Given the description of an element on the screen output the (x, y) to click on. 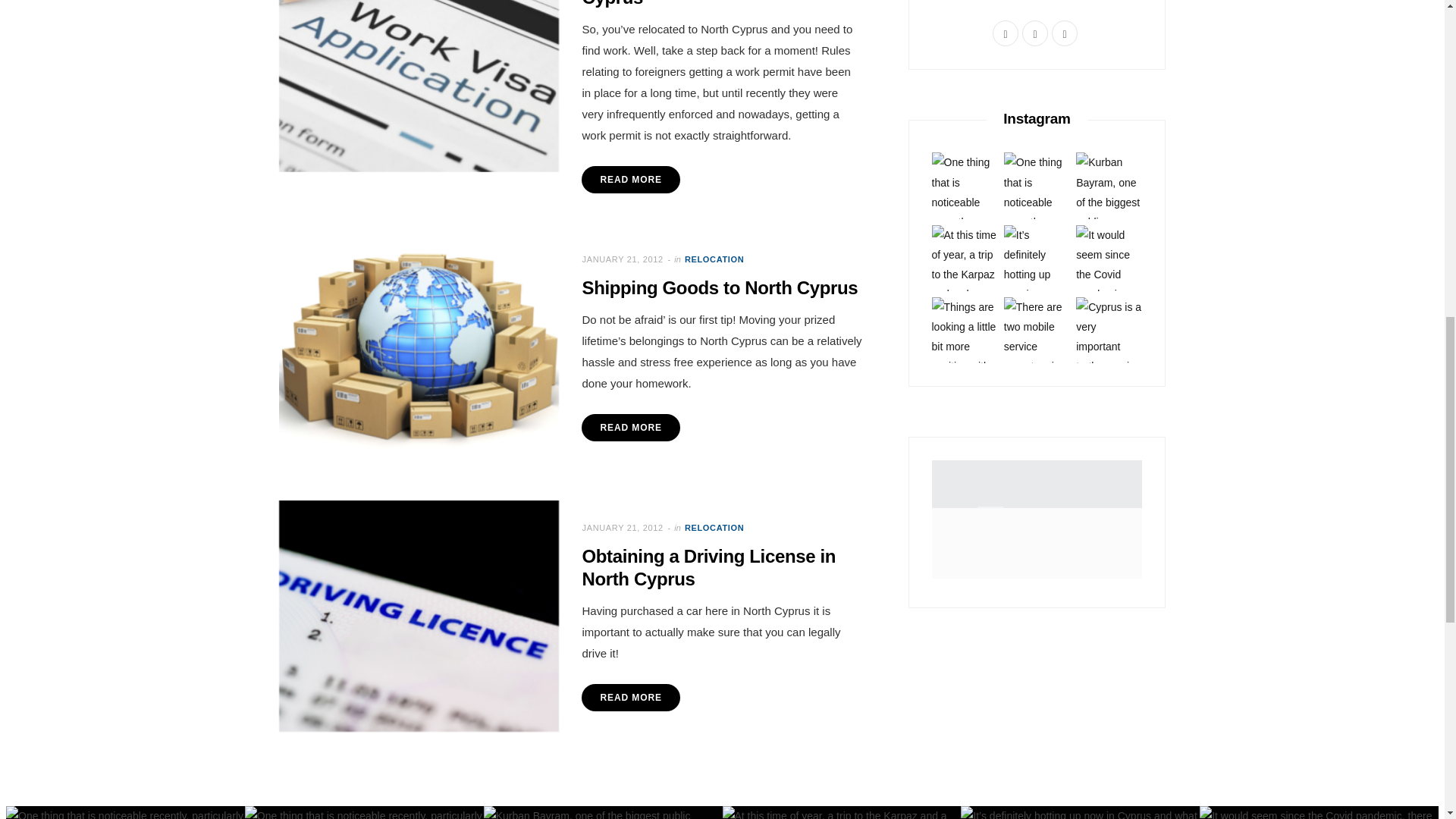
Shipping Goods to North Cyprus (419, 346)
